Given the description of an element on the screen output the (x, y) to click on. 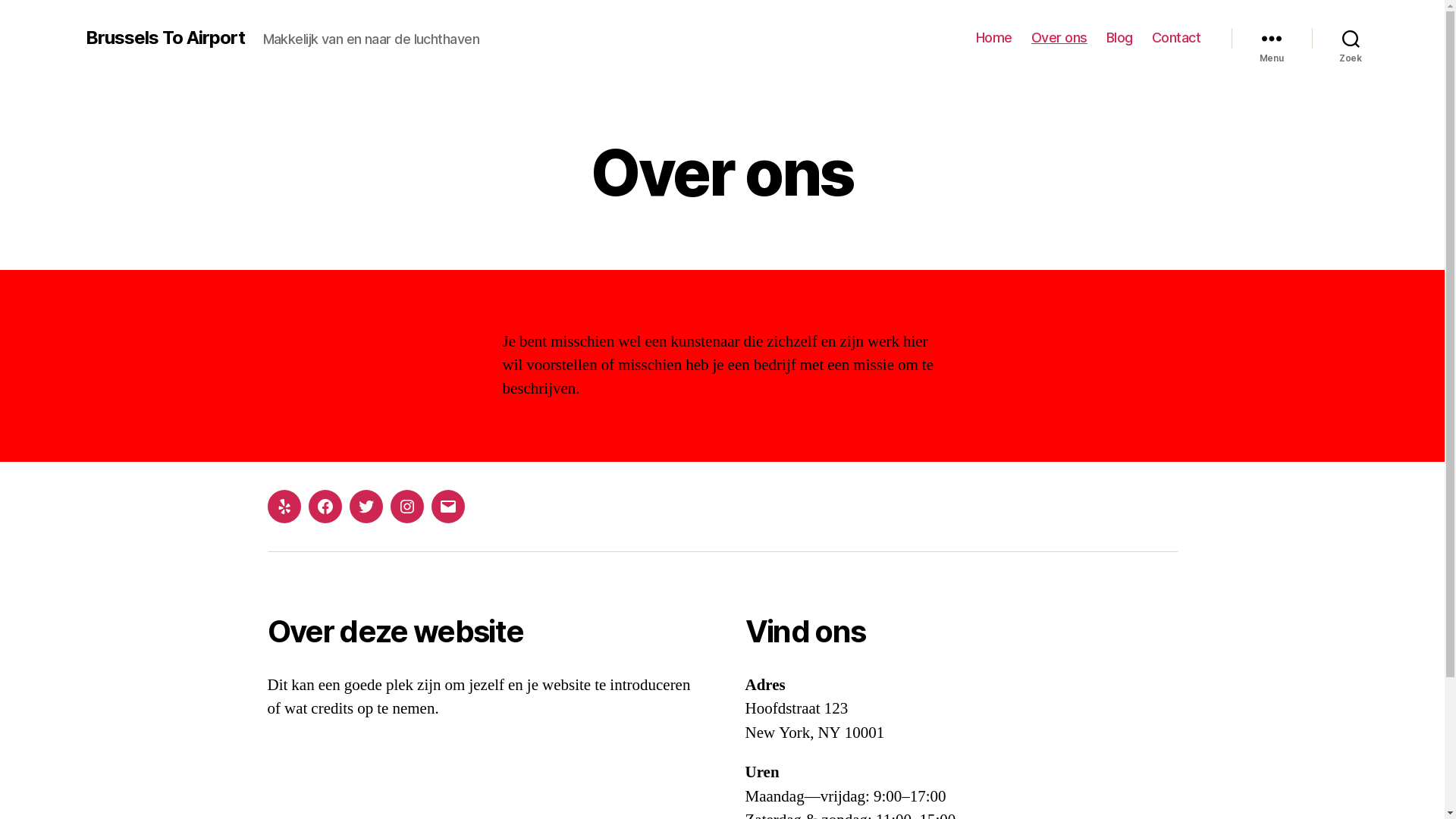
E-mail Element type: text (447, 506)
Twitter Element type: text (365, 506)
Over ons Element type: text (1059, 37)
Facebook Element type: text (324, 506)
Instagram Element type: text (406, 506)
Brussels To Airport Element type: text (164, 37)
Blog Element type: text (1119, 37)
Contact Element type: text (1176, 37)
Yelp Element type: text (283, 506)
Home Element type: text (993, 37)
Menu Element type: text (1271, 37)
Zoek Element type: text (1350, 37)
